Given the description of an element on the screen output the (x, y) to click on. 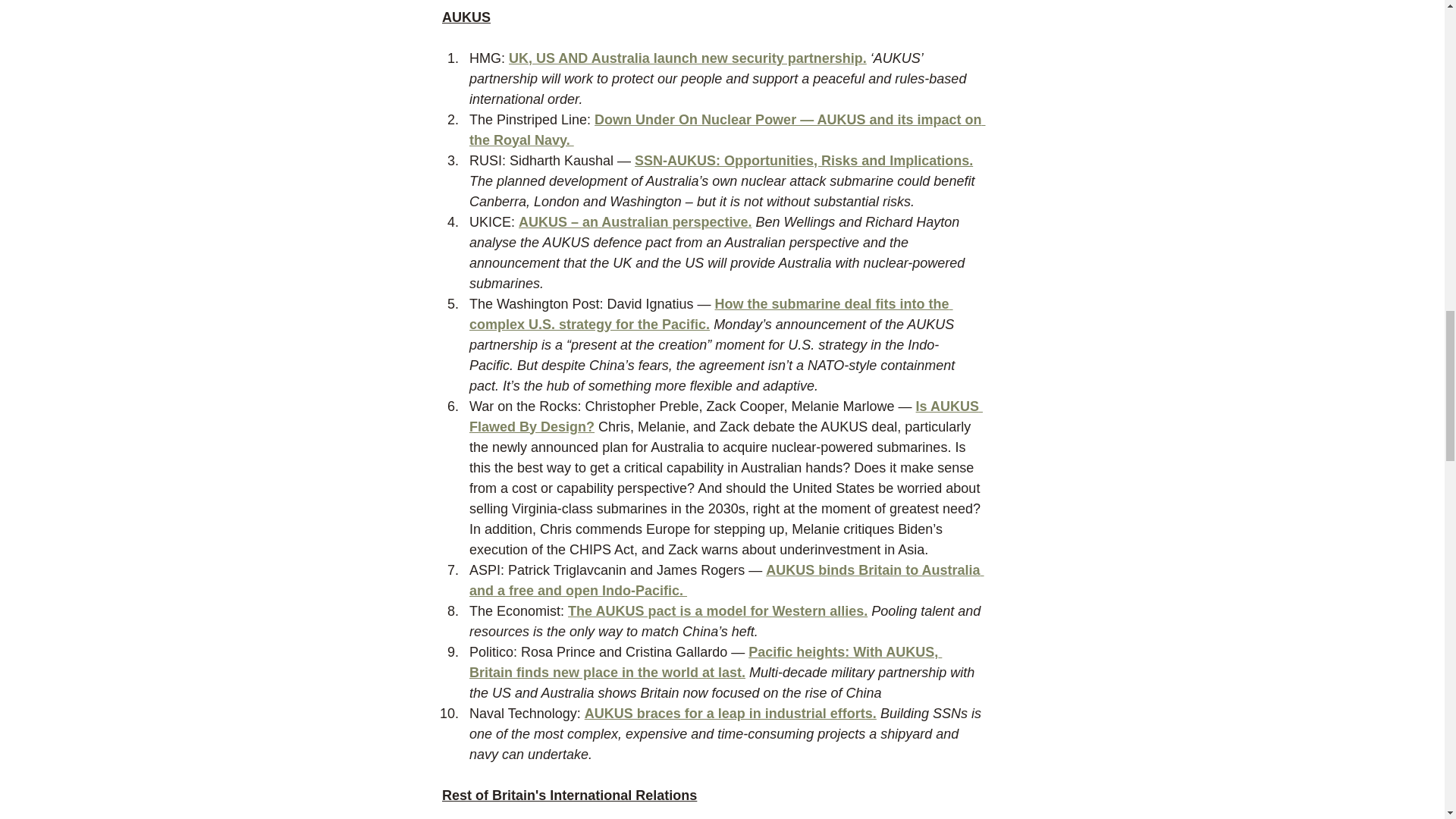
The AUKUS pact is a model for Western allies. (717, 611)
UK, US AND Australia launch new security partnership. (687, 58)
SSN-AUKUS: Opportunities, Risks and Implications. (803, 160)
AUKUS braces for a leap in industrial efforts. (729, 713)
Is AUKUS Flawed By Design? (724, 416)
